Given the description of an element on the screen output the (x, y) to click on. 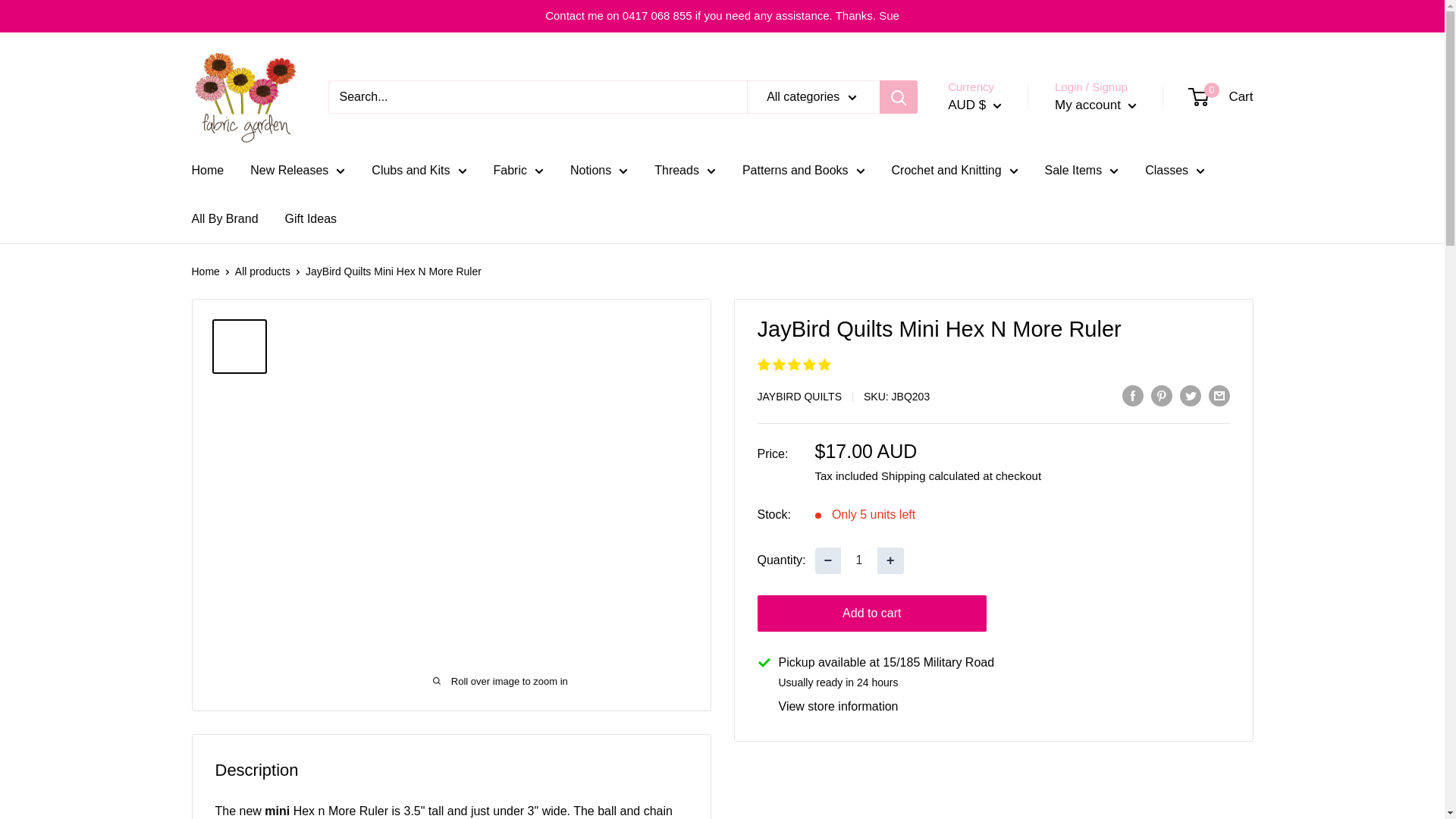
1 (859, 560)
Decrease Quantity (828, 560)
Increase Quantity (890, 560)
